Given the description of an element on the screen output the (x, y) to click on. 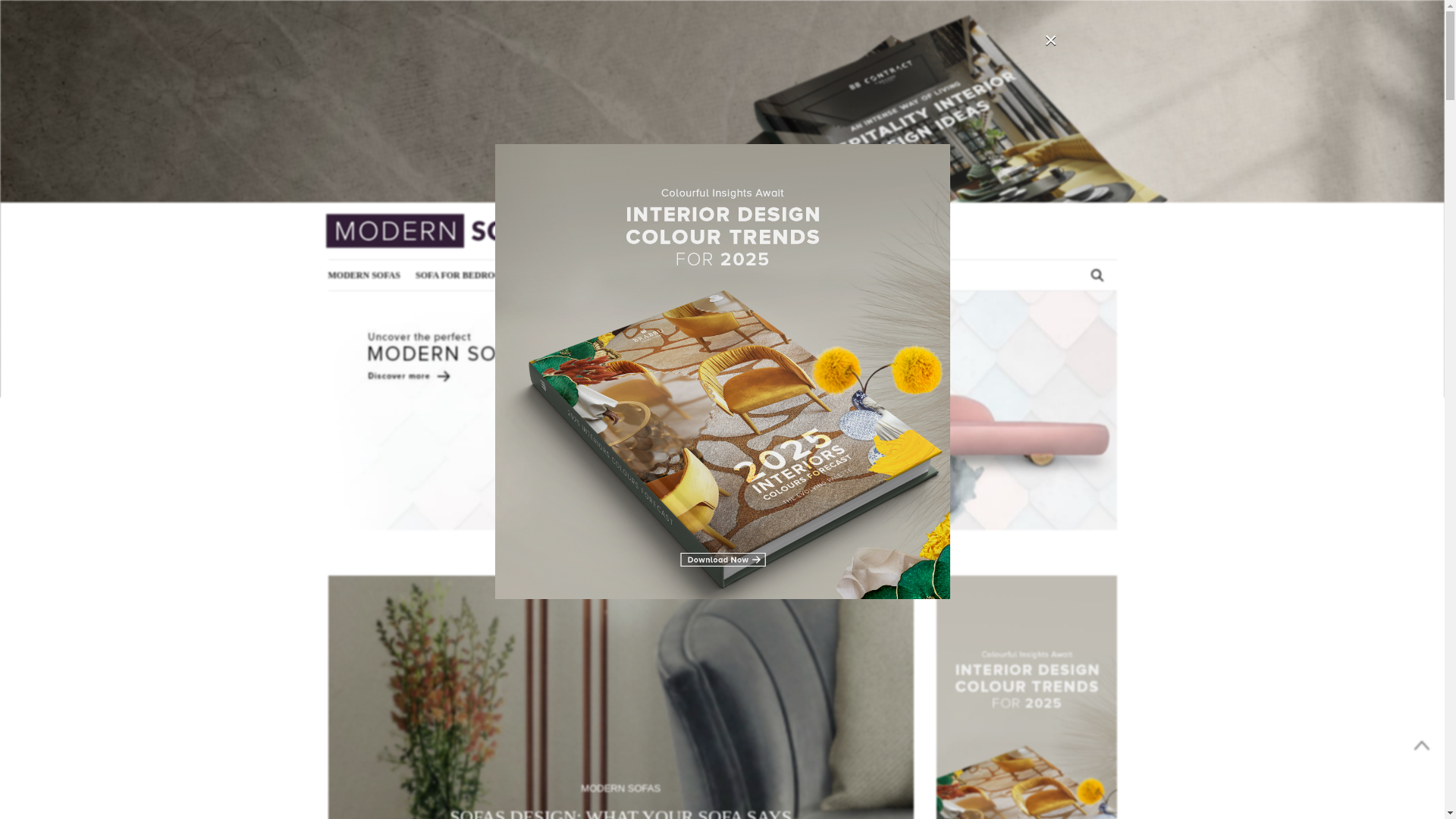
DESIGNERS AND BRANDS (856, 186)
SOFA FOR BEDROOM (504, 186)
DESIGN NEWS (743, 186)
MODERN SOFAS (395, 186)
SOFA FOR LIVING ROOM (631, 186)
EBOOKS (956, 186)
Modern Sofas (440, 230)
